Given the description of an element on the screen output the (x, y) to click on. 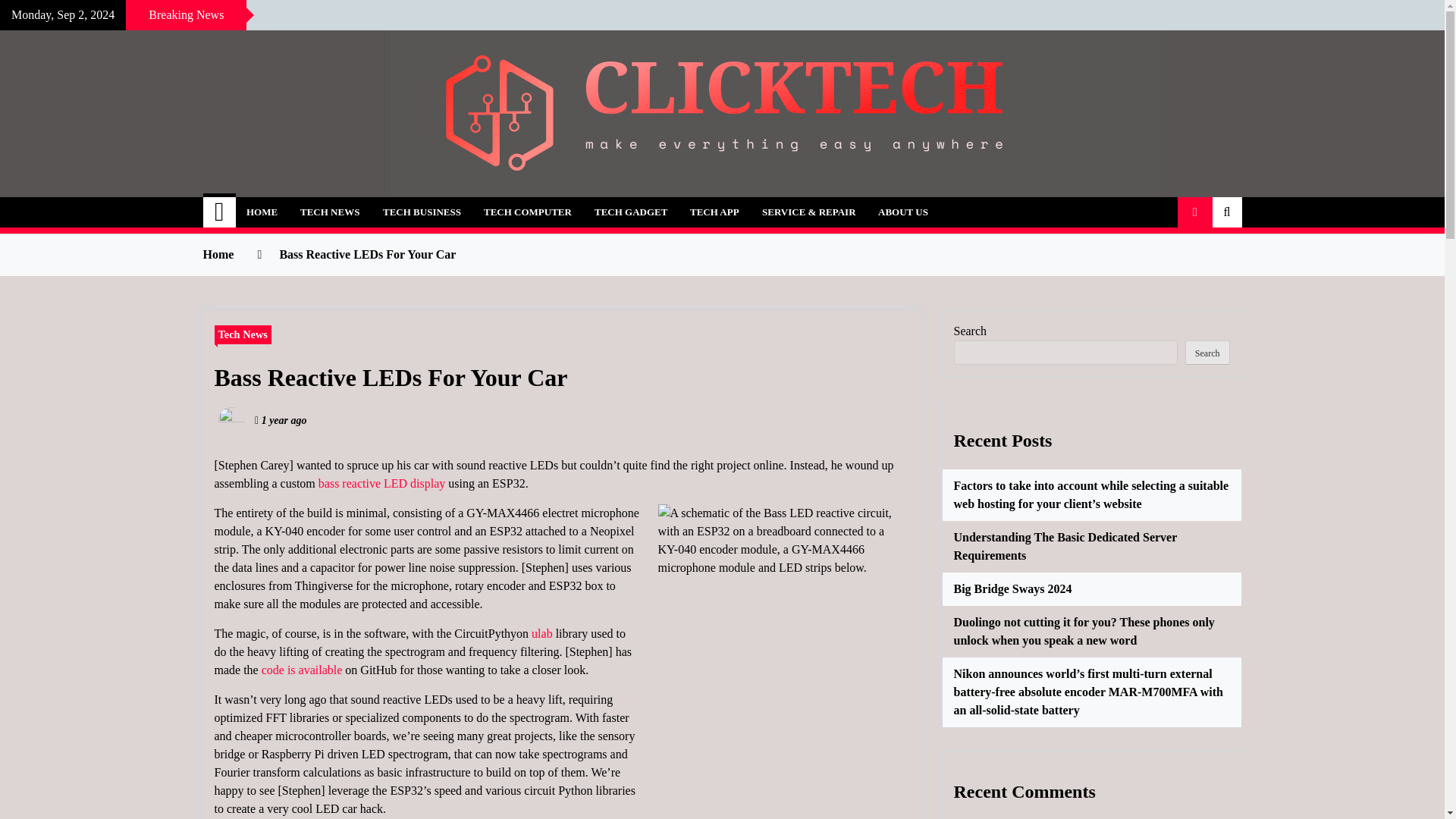
TECH NEWS (329, 212)
TECH GADGET (630, 212)
Home (219, 212)
Click For Tech (311, 203)
ABOUT US (902, 212)
HOME (261, 212)
TECH BUSINESS (421, 212)
TECH APP (714, 212)
TECH COMPUTER (527, 212)
